Given the description of an element on the screen output the (x, y) to click on. 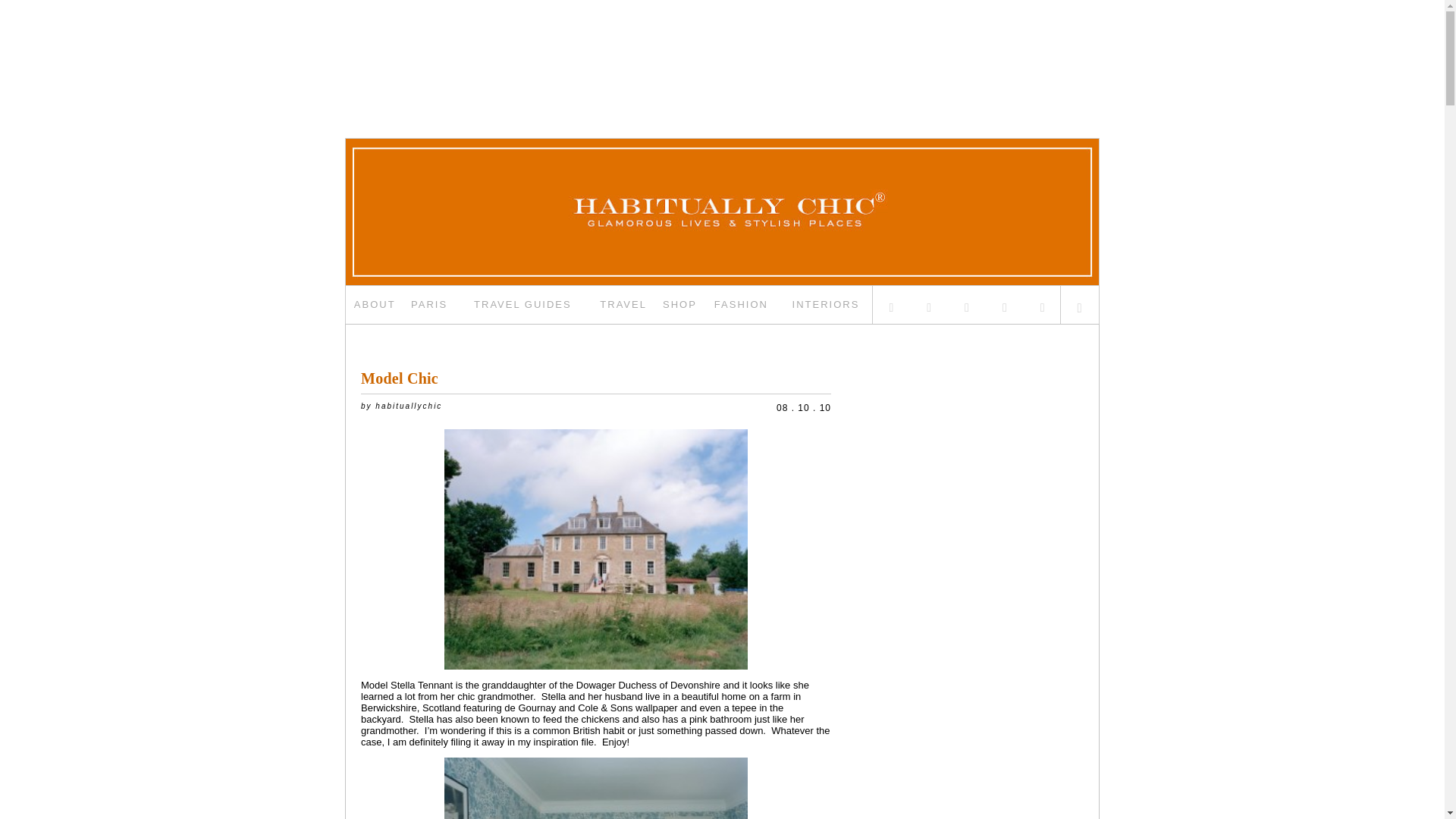
TRAVEL GUIDES (523, 304)
instagram (968, 304)
TRAVEL (622, 304)
FASHION (741, 304)
SHOP (679, 304)
twitter (891, 304)
pinterest (1004, 304)
PARIS (428, 304)
ABOUT (374, 304)
INTERIORS (826, 304)
bloglovin (1042, 304)
Advertisement (721, 47)
facebook (930, 304)
